Given the description of an element on the screen output the (x, y) to click on. 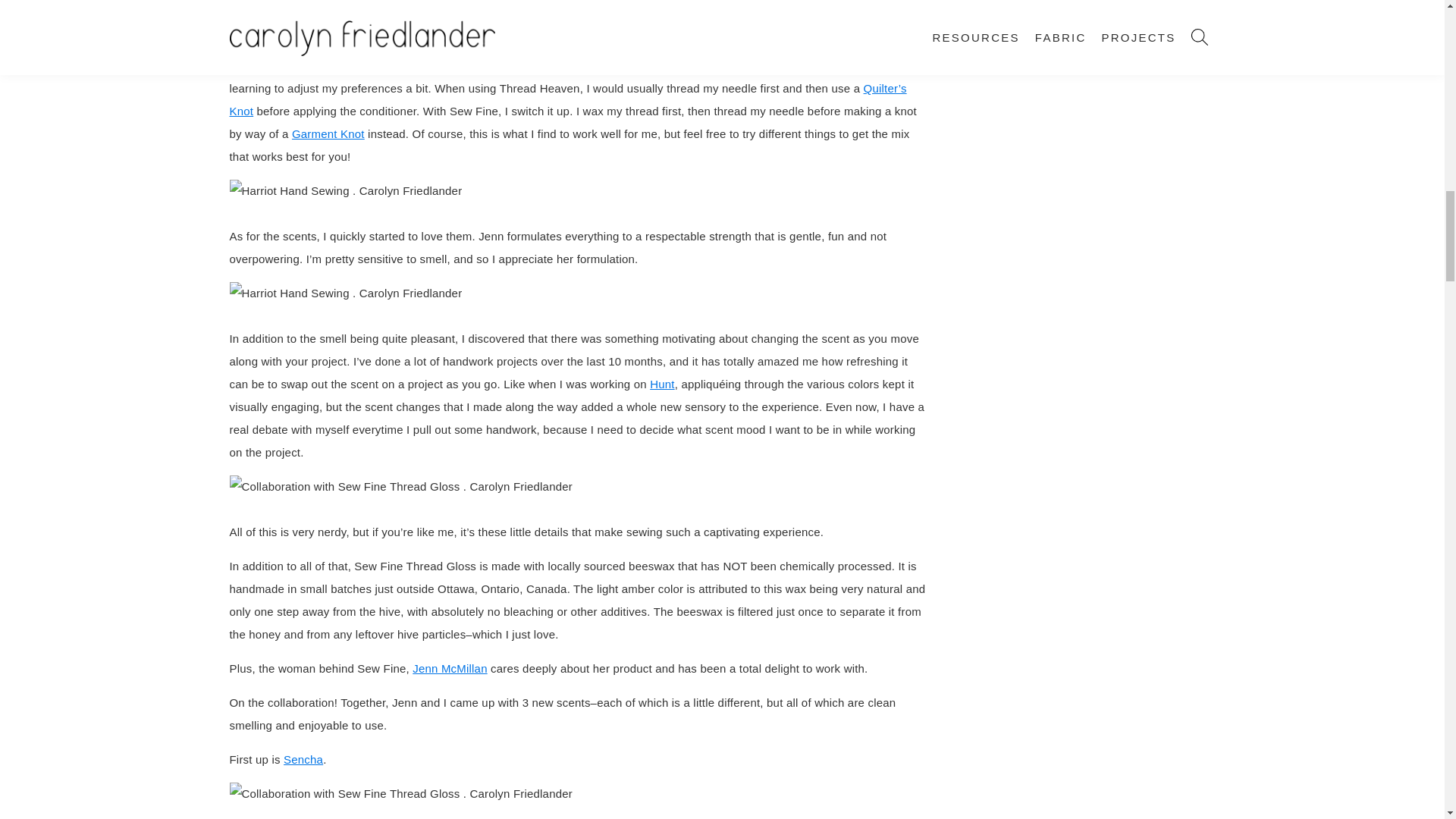
Garment Knot (328, 133)
Jenn McMillan (449, 667)
Hunt (662, 383)
Sencha (303, 758)
